Given the description of an element on the screen output the (x, y) to click on. 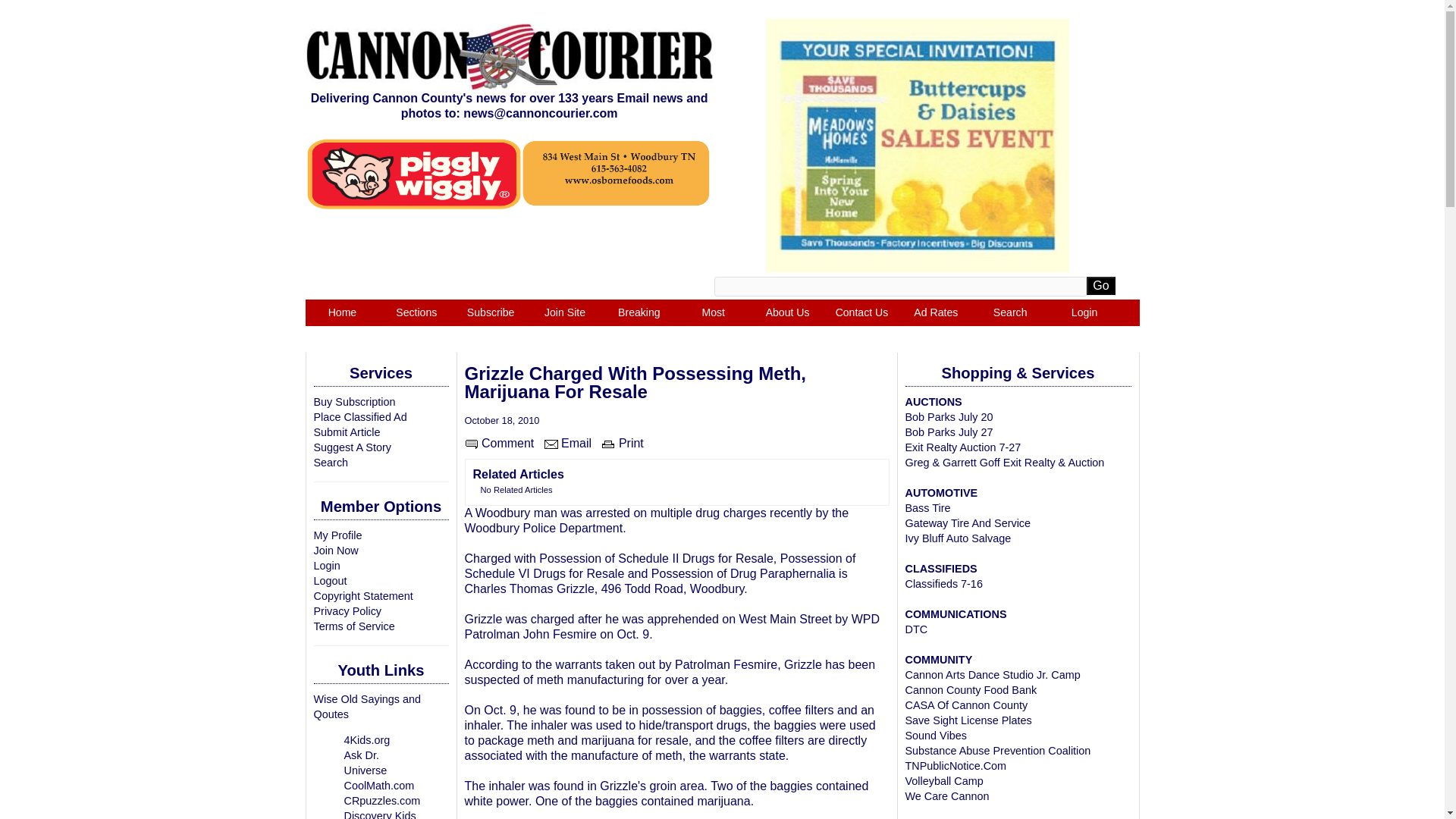
Wise Old Sayings and Qoutes (368, 706)
Search (1009, 312)
My Profile (338, 535)
Join Now (336, 550)
4Kids.org (366, 739)
Go (1100, 285)
Place Classified Ad (360, 417)
Most Popular (714, 325)
Sections (415, 312)
About Us (788, 312)
Search (331, 462)
Login (327, 565)
Subscribe (489, 312)
Breaking News (639, 325)
Suggest A Story (352, 447)
